Given the description of an element on the screen output the (x, y) to click on. 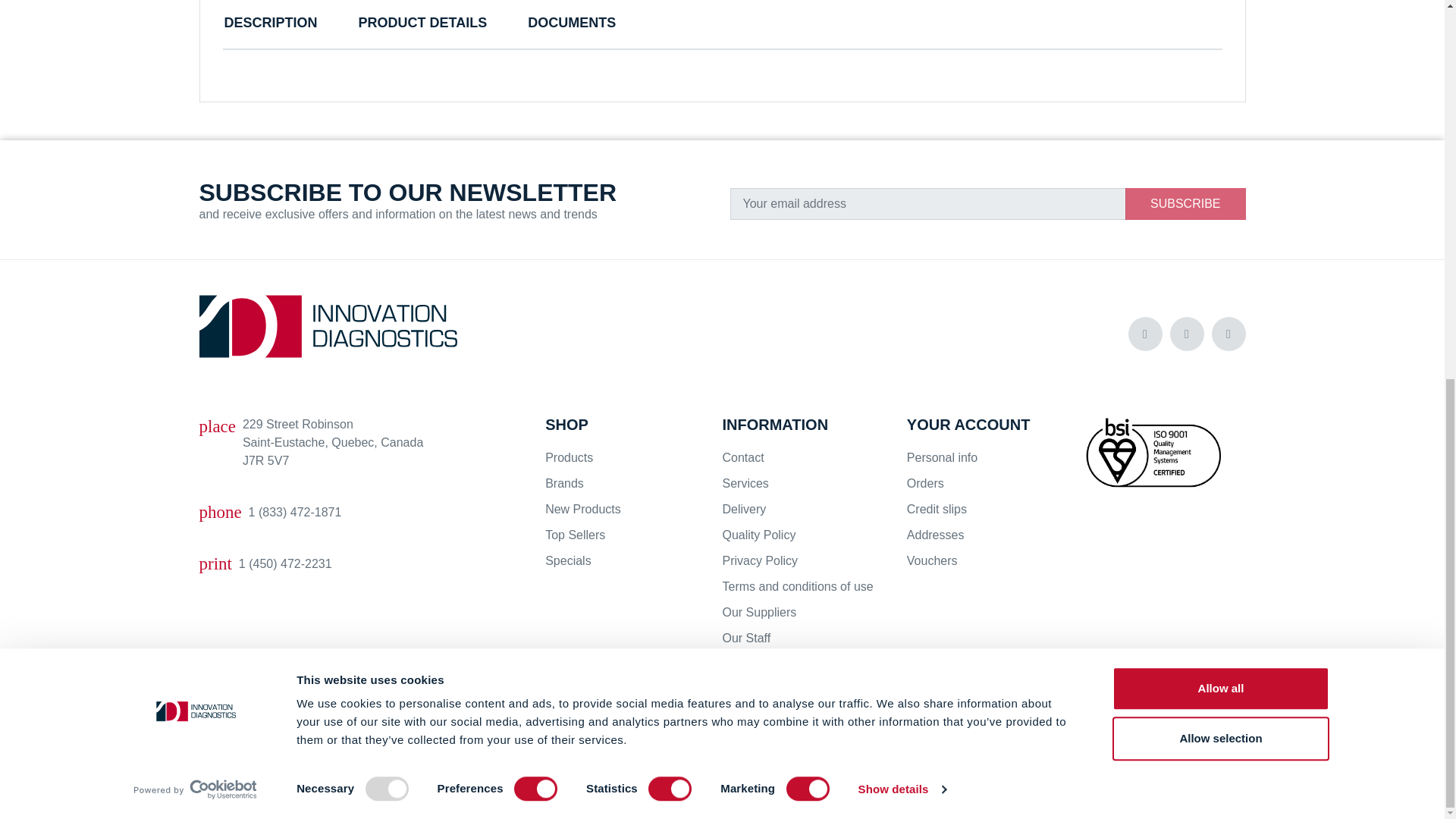
Allow selection (1219, 34)
Subscribe (1184, 204)
Show details (900, 85)
